Given the description of an element on the screen output the (x, y) to click on. 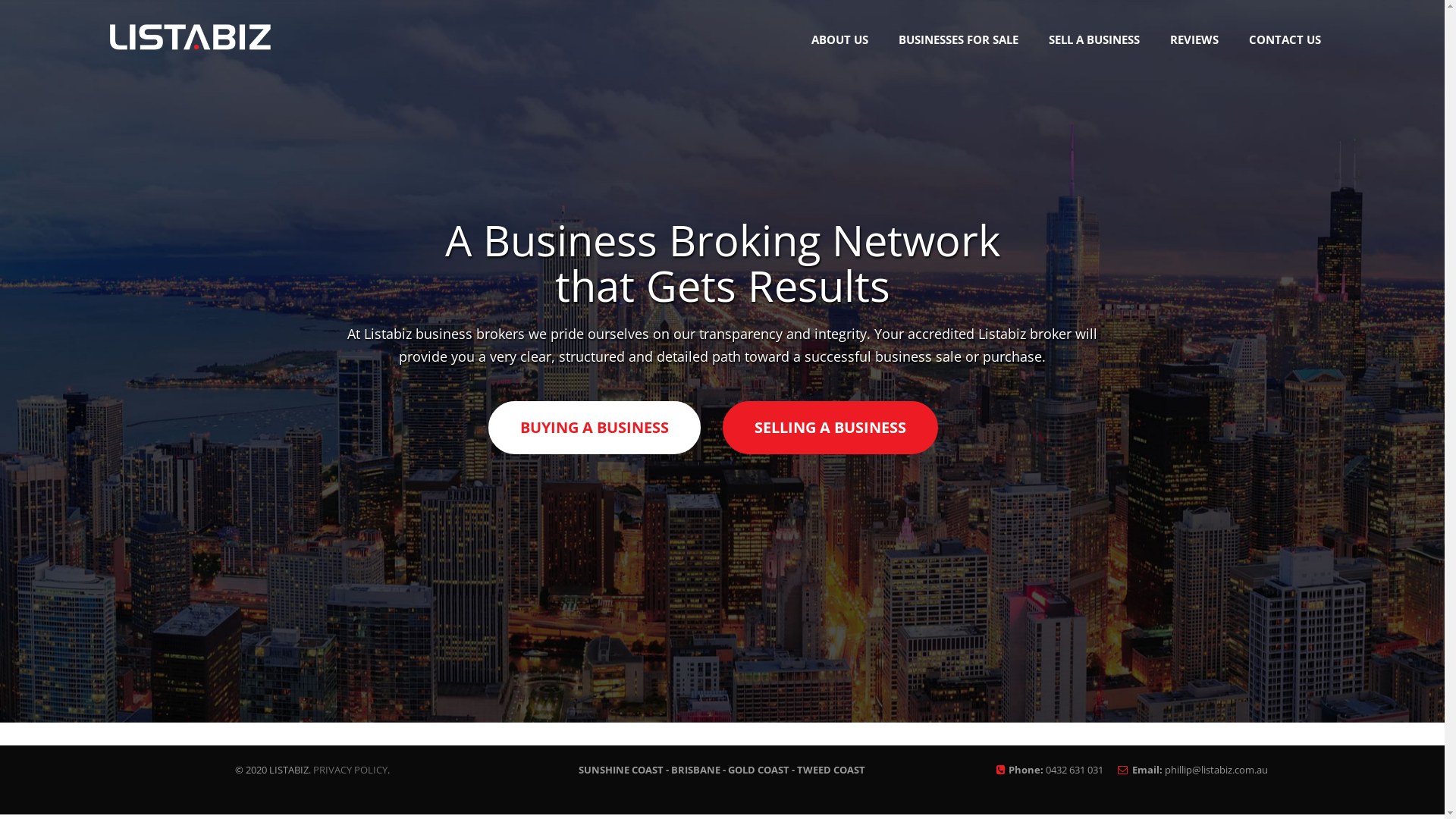
BUSINESSES FOR SALE Element type: text (958, 39)
Listabiz Element type: hover (190, 54)
SELL A BUSINESS Element type: text (1093, 39)
ABOUT US Element type: text (839, 39)
PRIVACY POLICY Element type: text (350, 769)
SELLING A BUSINESS Element type: text (829, 427)
BUYING A BUSINESS Element type: text (594, 427)
CONTACT US Element type: text (1284, 39)
REVIEWS Element type: text (1193, 39)
